Given the description of an element on the screen output the (x, y) to click on. 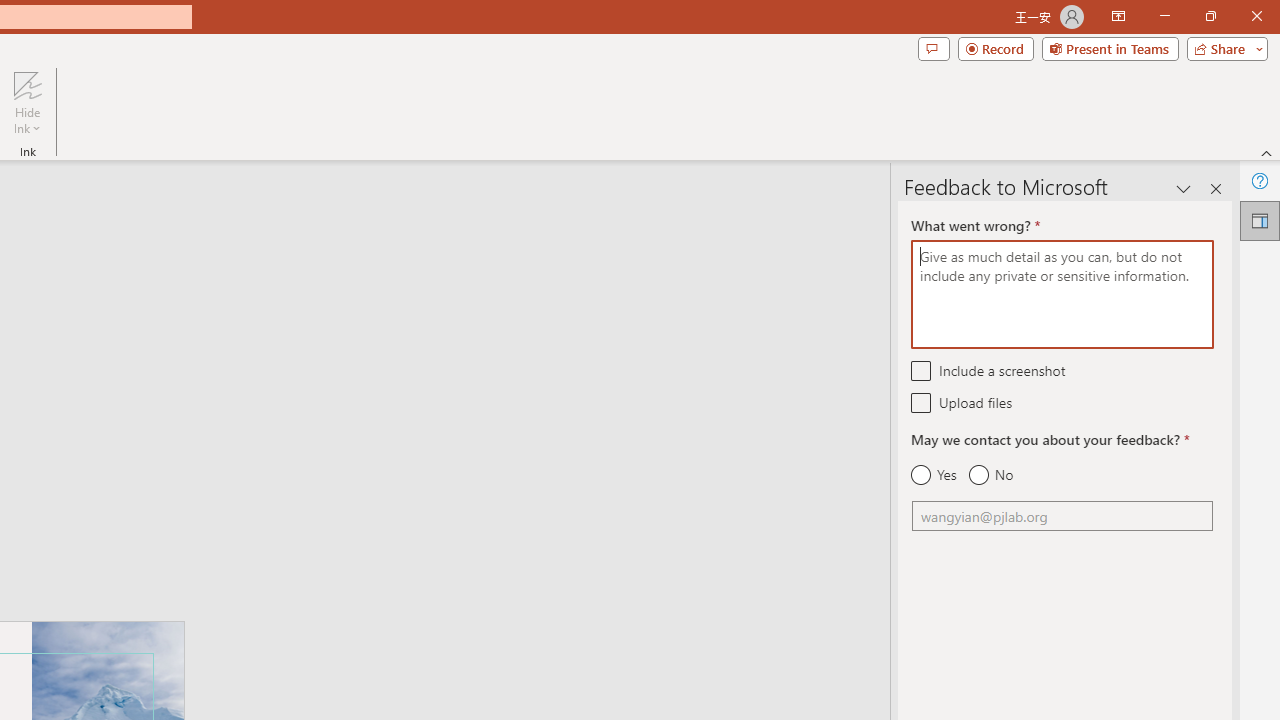
Upload files (921, 402)
No (990, 475)
